Given the description of an element on the screen output the (x, y) to click on. 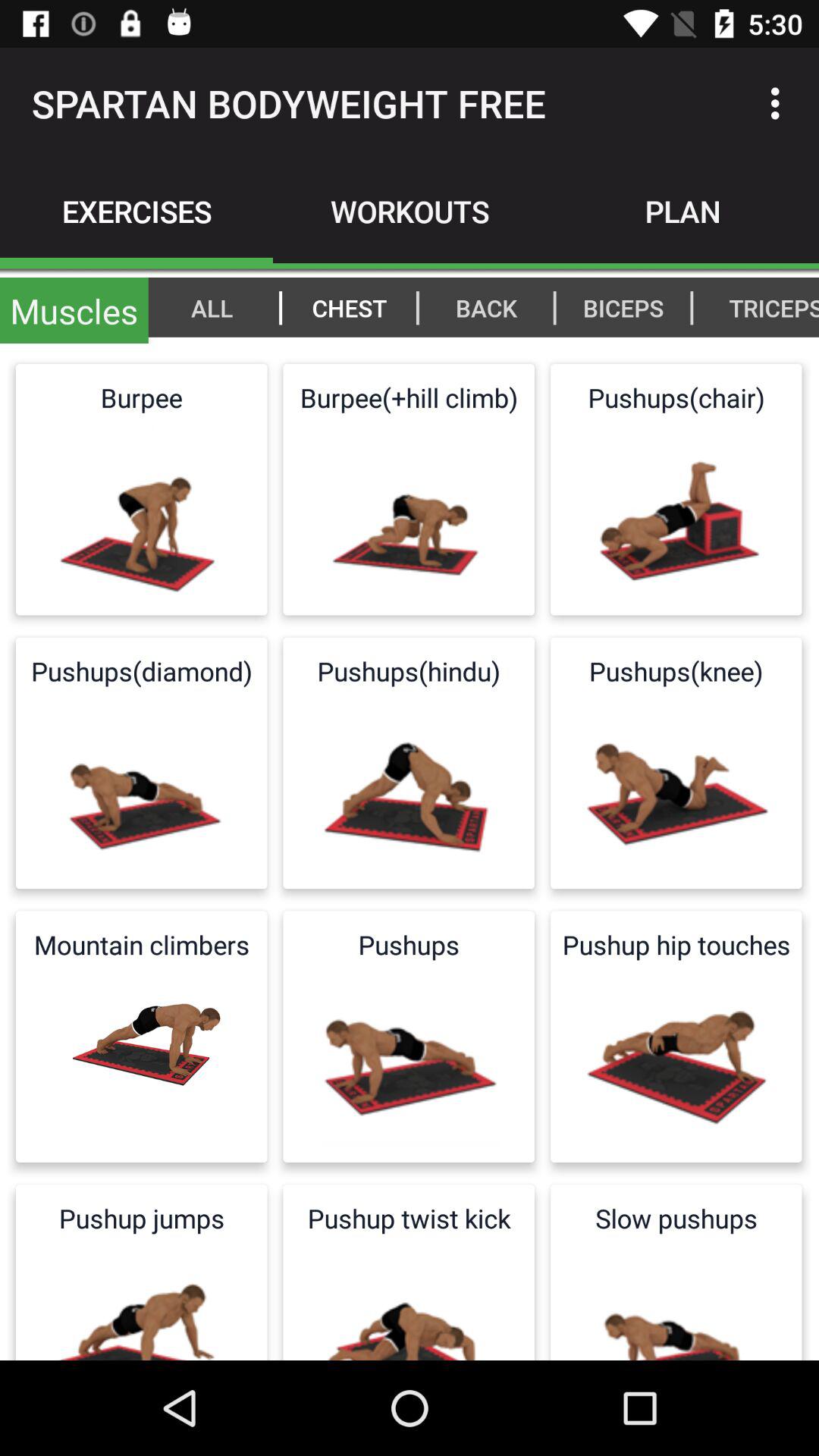
tap item next to | (211, 307)
